Given the description of an element on the screen output the (x, y) to click on. 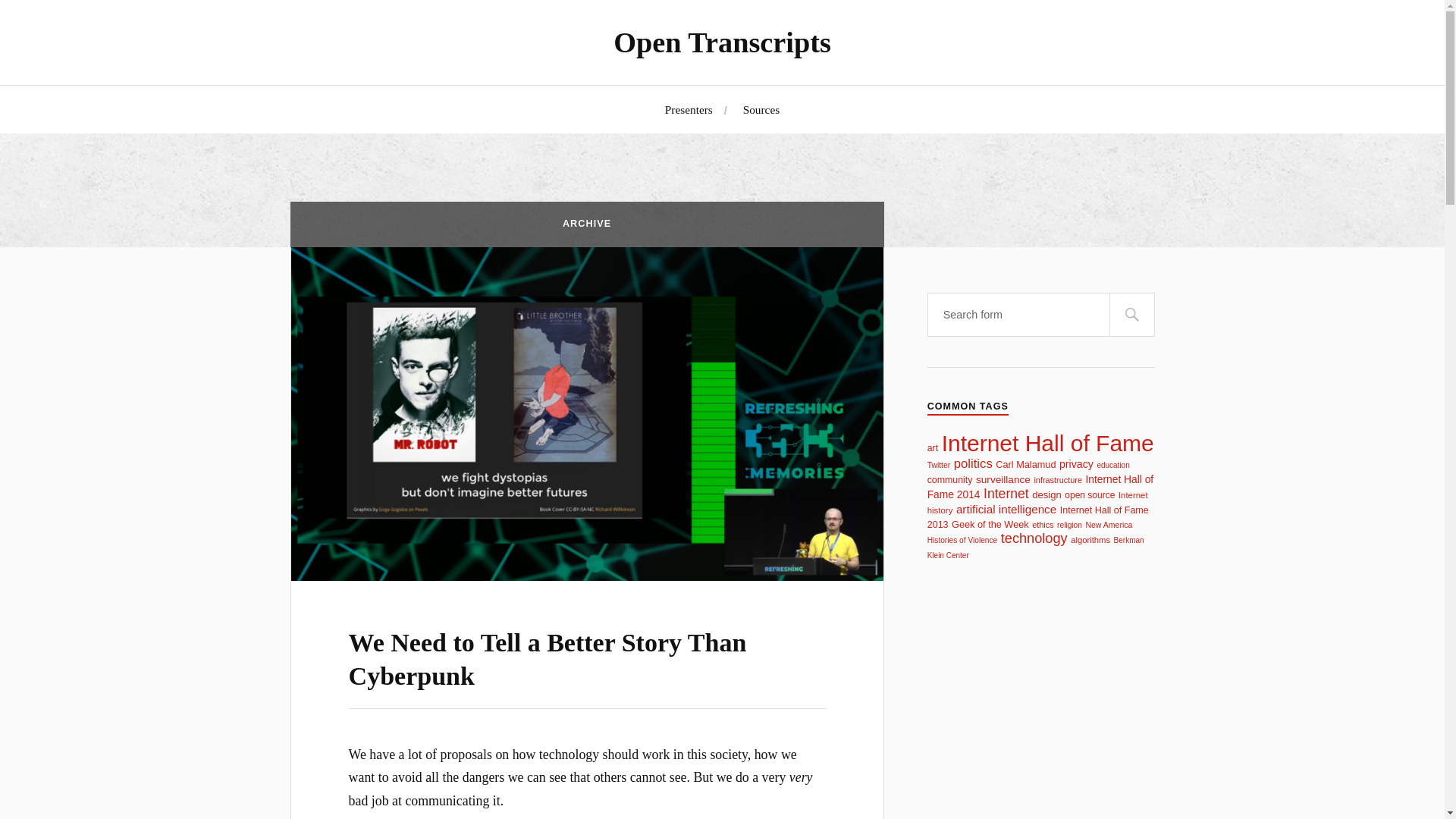
design (1046, 494)
32 topics (938, 465)
Internet (1006, 493)
artificial intelligence (1006, 508)
30 topics (1112, 465)
technology (1034, 538)
43 topics (932, 448)
algorithms (1089, 539)
New America (1108, 524)
Twitter (938, 465)
Internet Hall of Fame (1048, 442)
Internet Hall of Fame 2013 (1037, 517)
140 topics (1048, 442)
open source (1089, 494)
politics (972, 463)
